Given the description of an element on the screen output the (x, y) to click on. 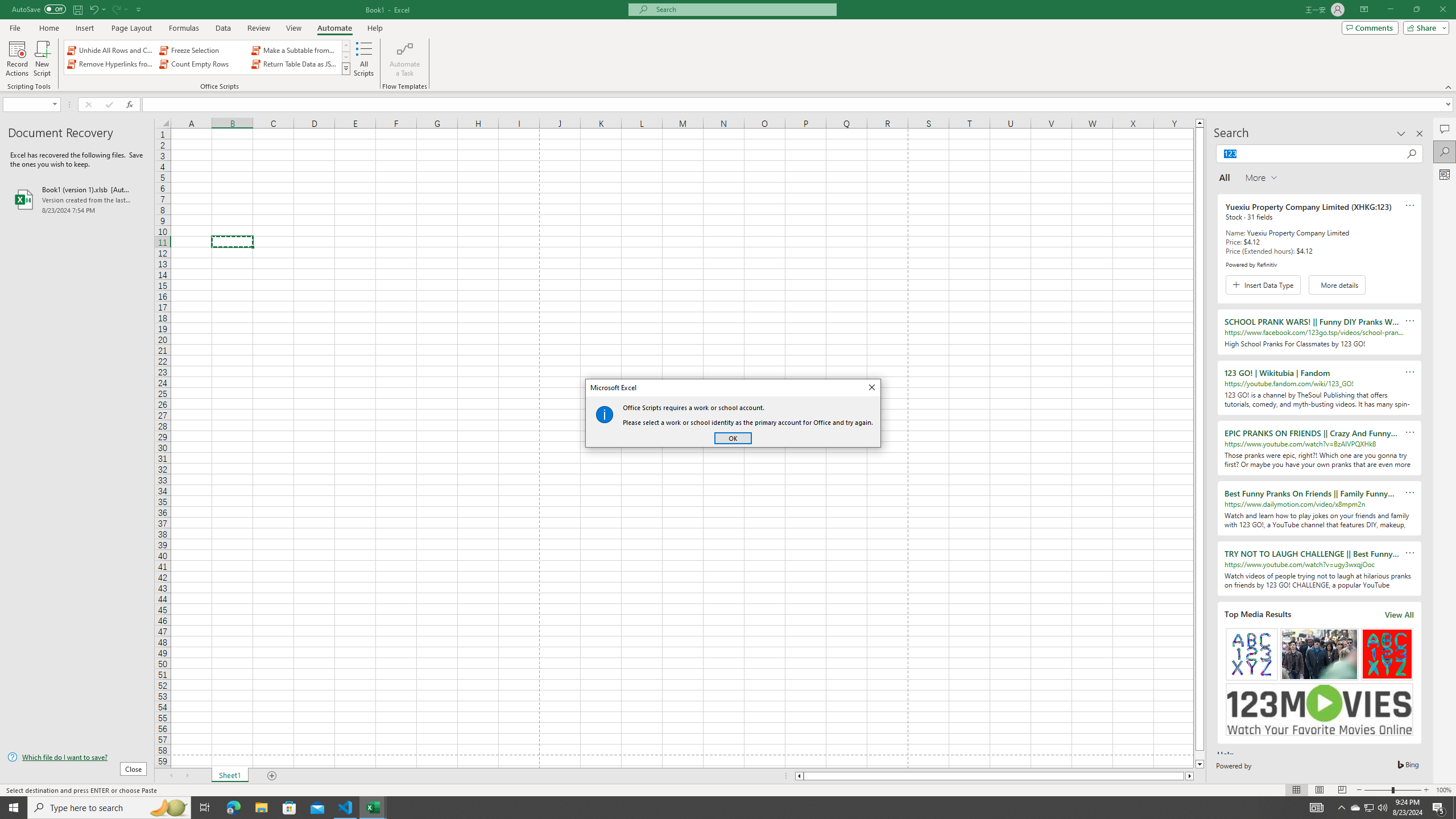
Remove Hyperlinks from Sheet (111, 64)
Start (13, 807)
Type here to search (108, 807)
Make a Subtable from a Selection (294, 50)
